Given the description of an element on the screen output the (x, y) to click on. 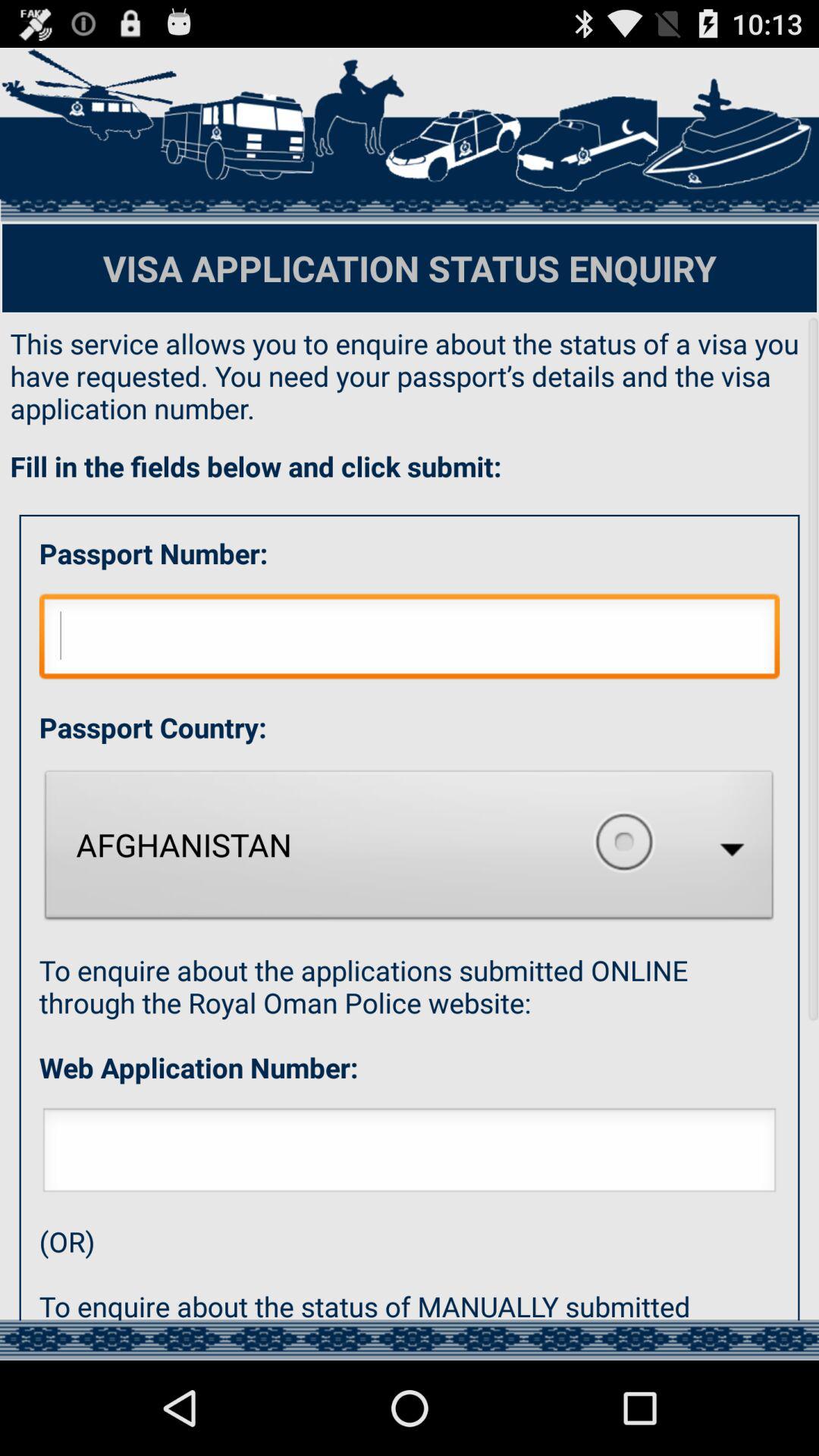
type the web application number (409, 1154)
